Given the description of an element on the screen output the (x, y) to click on. 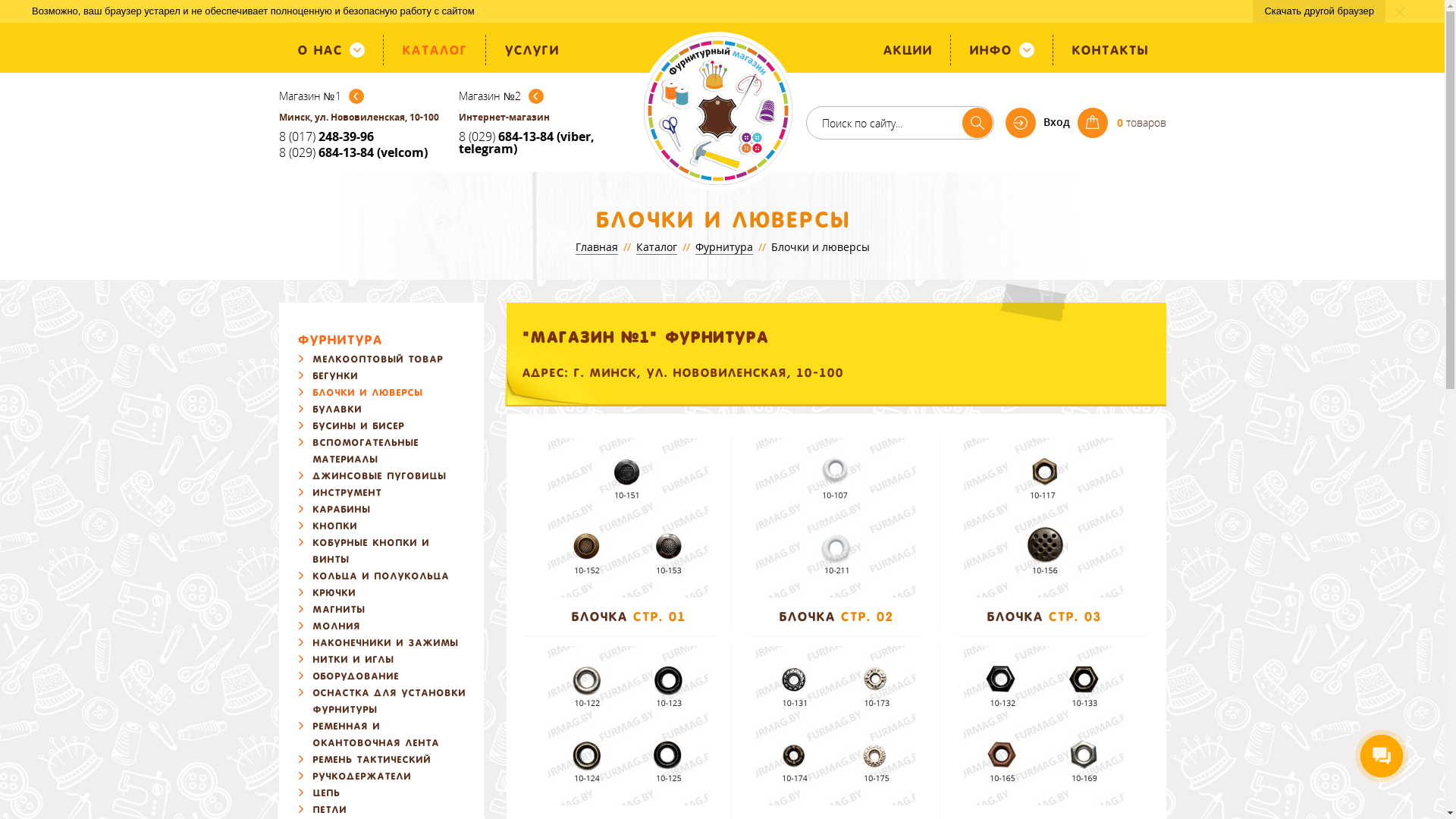
furLogovector3 Element type: text (717, 111)
8 (029) 684-13-84 (velcom) Element type: text (361, 152)
8 (029) 684-13-84 (viber, telegram) Element type: text (541, 142)
8 (017) 248-39-96 Element type: text (361, 136)
